Given the description of an element on the screen output the (x, y) to click on. 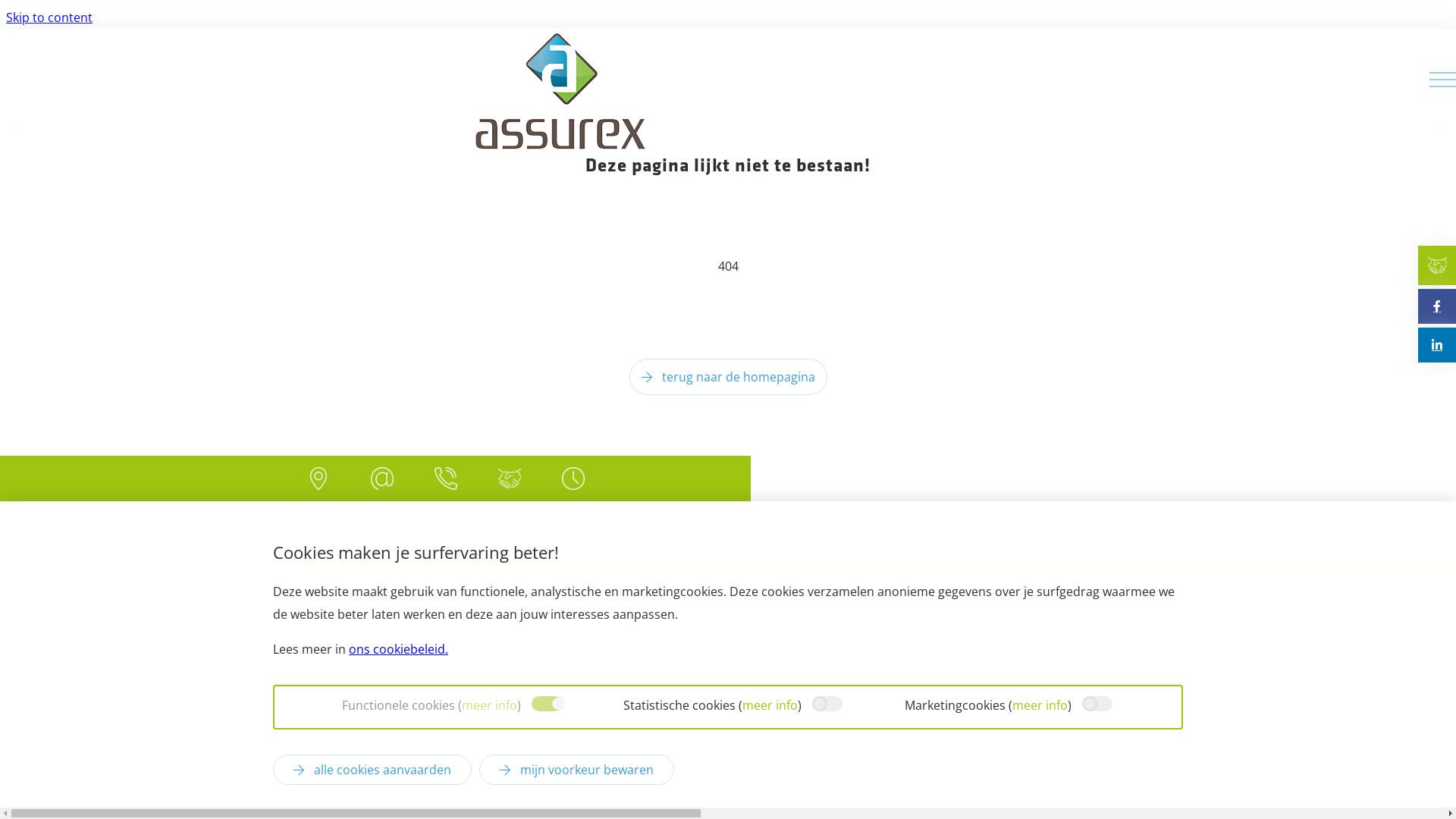
Remuneratiebeleid Element type: text (386, 554)
Disclaimer Element type: text (536, 531)
mijn voorkeur bewaren Element type: text (576, 769)
Privacy clausule Element type: text (377, 531)
Created by Insucommerce Element type: text (642, 554)
meer info Element type: text (1038, 704)
Go to Top Element type: text (34, 611)
meer info Element type: text (488, 704)
terug naar de homepagina Element type: text (728, 376)
Page load link Element type: text (45, 588)
Duurzaamheidsbeleid Element type: text (504, 554)
meer info Element type: text (769, 704)
Skip to content Element type: text (49, 17)
ons cookiebeleid. Element type: text (398, 648)
IDD-Richtlijn Element type: text (463, 531)
Cookiebeleid Element type: text (609, 531)
alle cookies aanvaarden Element type: text (372, 769)
